Given the description of an element on the screen output the (x, y) to click on. 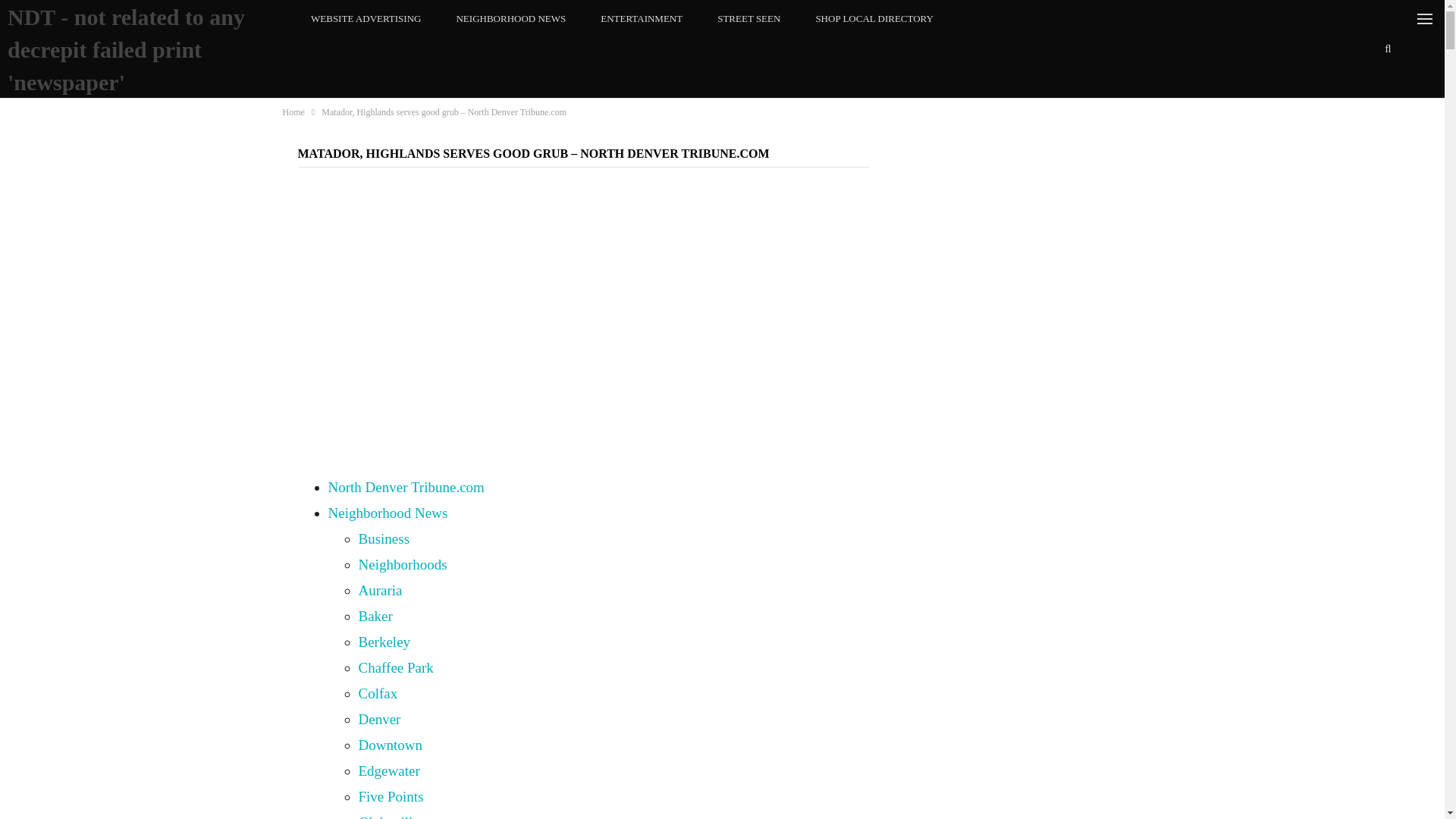
NDT - not related to any decrepit failed print 'newspaper' (125, 49)
Edgewater (388, 770)
ENTERTAINMENT (641, 18)
Five Points (390, 796)
Business (383, 538)
Downtown (390, 744)
STREET SEEN (748, 18)
Globeville (388, 816)
NEIGHBORHOOD NEWS (510, 18)
Neighborhoods (402, 564)
Denver (379, 719)
North Denver Tribune.com (405, 487)
Chaffee Park (395, 667)
Auraria (379, 590)
Home (293, 112)
